Given the description of an element on the screen output the (x, y) to click on. 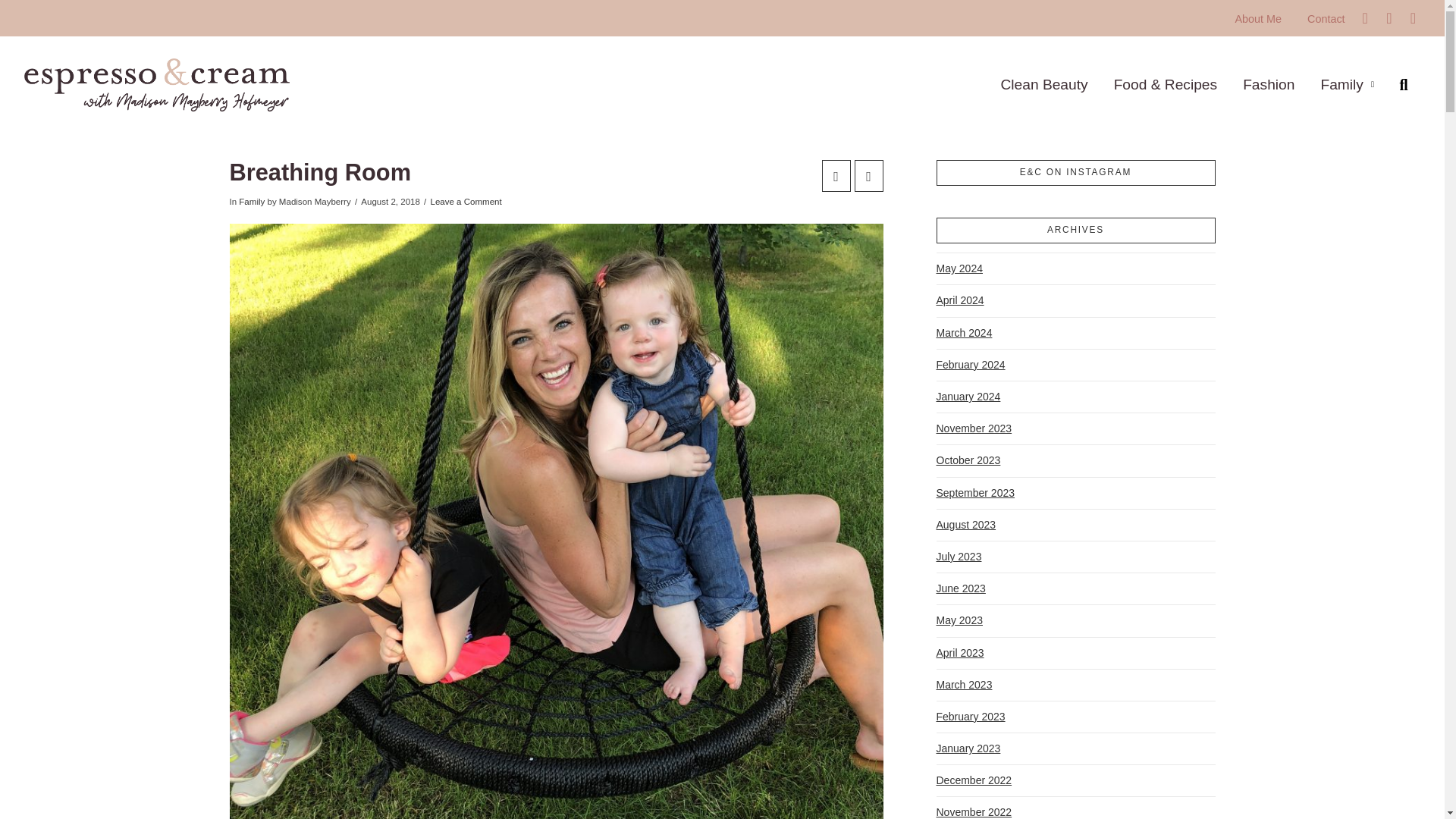
November 2022 (973, 807)
August 2023 (965, 524)
February 2023 (970, 716)
June 2023 (960, 588)
April 2023 (960, 652)
April 2024 (960, 300)
February 2024 (970, 364)
November 2023 (973, 428)
March 2023 (963, 685)
Contact (1326, 18)
